Given the description of an element on the screen output the (x, y) to click on. 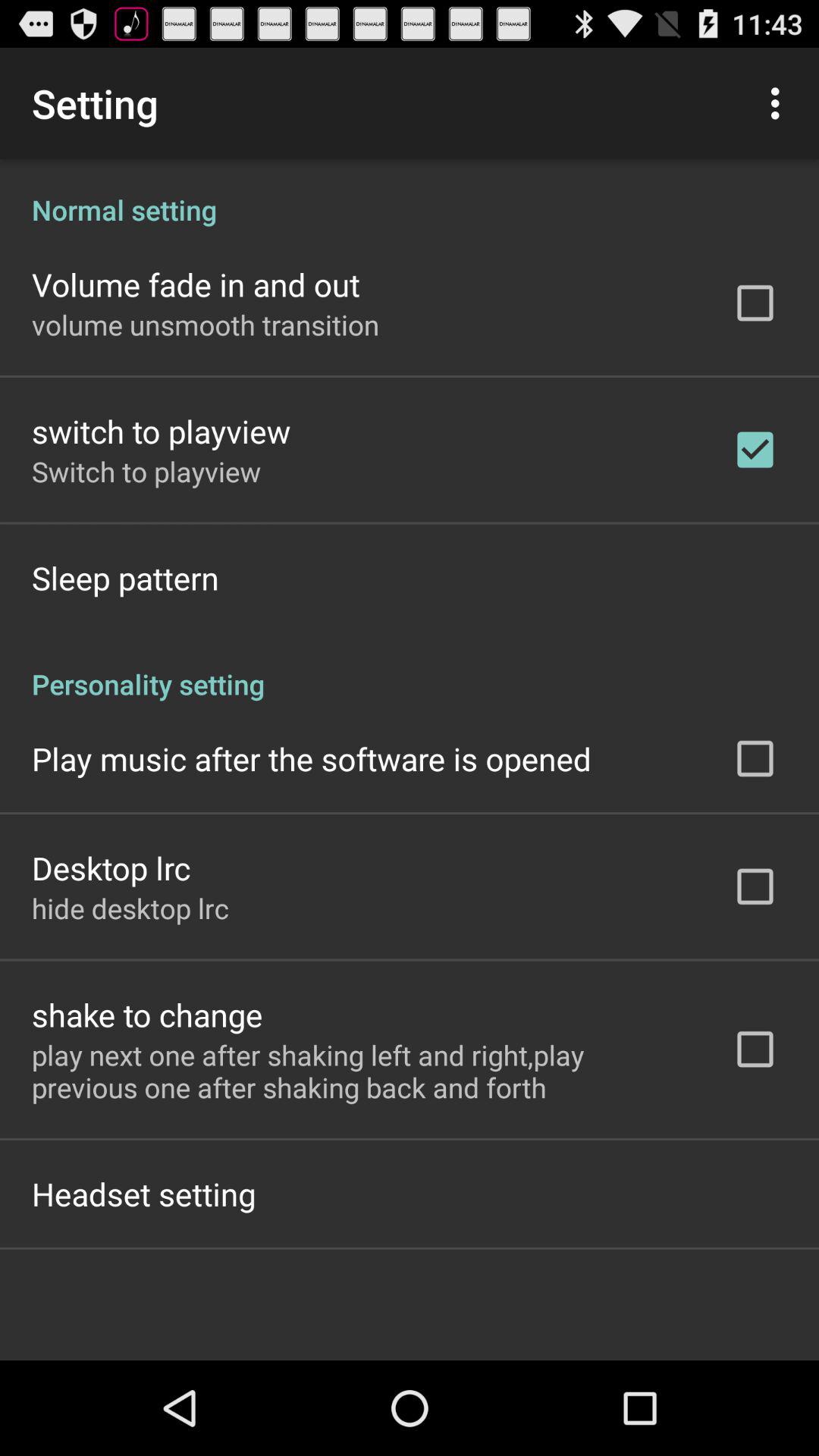
launch the icon above the volume fade in item (409, 193)
